Given the description of an element on the screen output the (x, y) to click on. 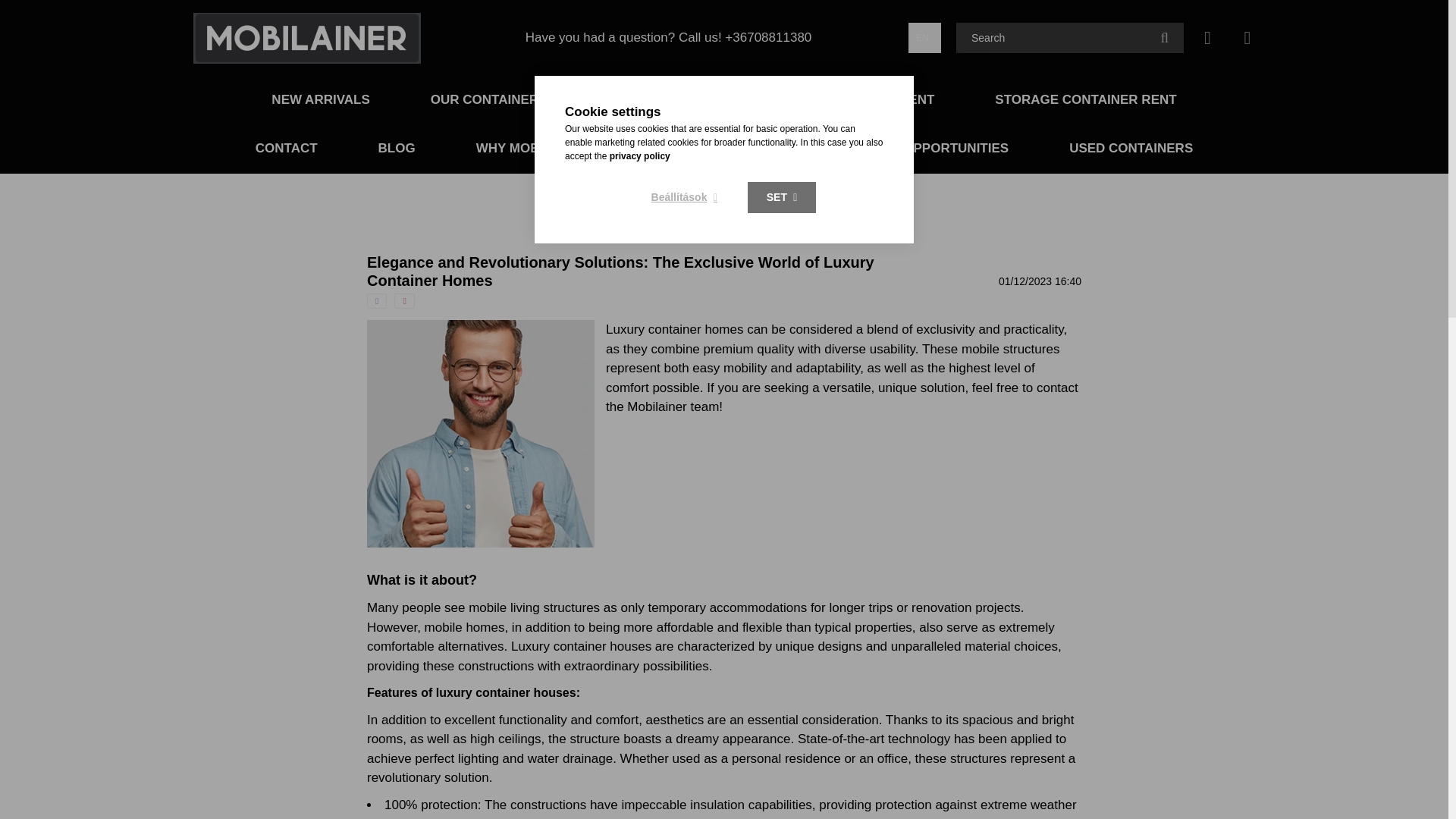
BLOG (396, 147)
HOUSES (777, 147)
NEW ARRIVALS (319, 99)
STORAGE CONTAINER RENT (1085, 99)
JOB OPPORTUNITIES (941, 147)
MOBILAINERS (663, 99)
OFFICE CONTAINER RENT (851, 99)
USED CONTAINERS (1130, 147)
Enter a longer search term! (1069, 37)
OUR CONTAINERS (490, 99)
CONTACT (286, 147)
WHY MOBILAINER CONTAINERS? (581, 147)
